Given the description of an element on the screen output the (x, y) to click on. 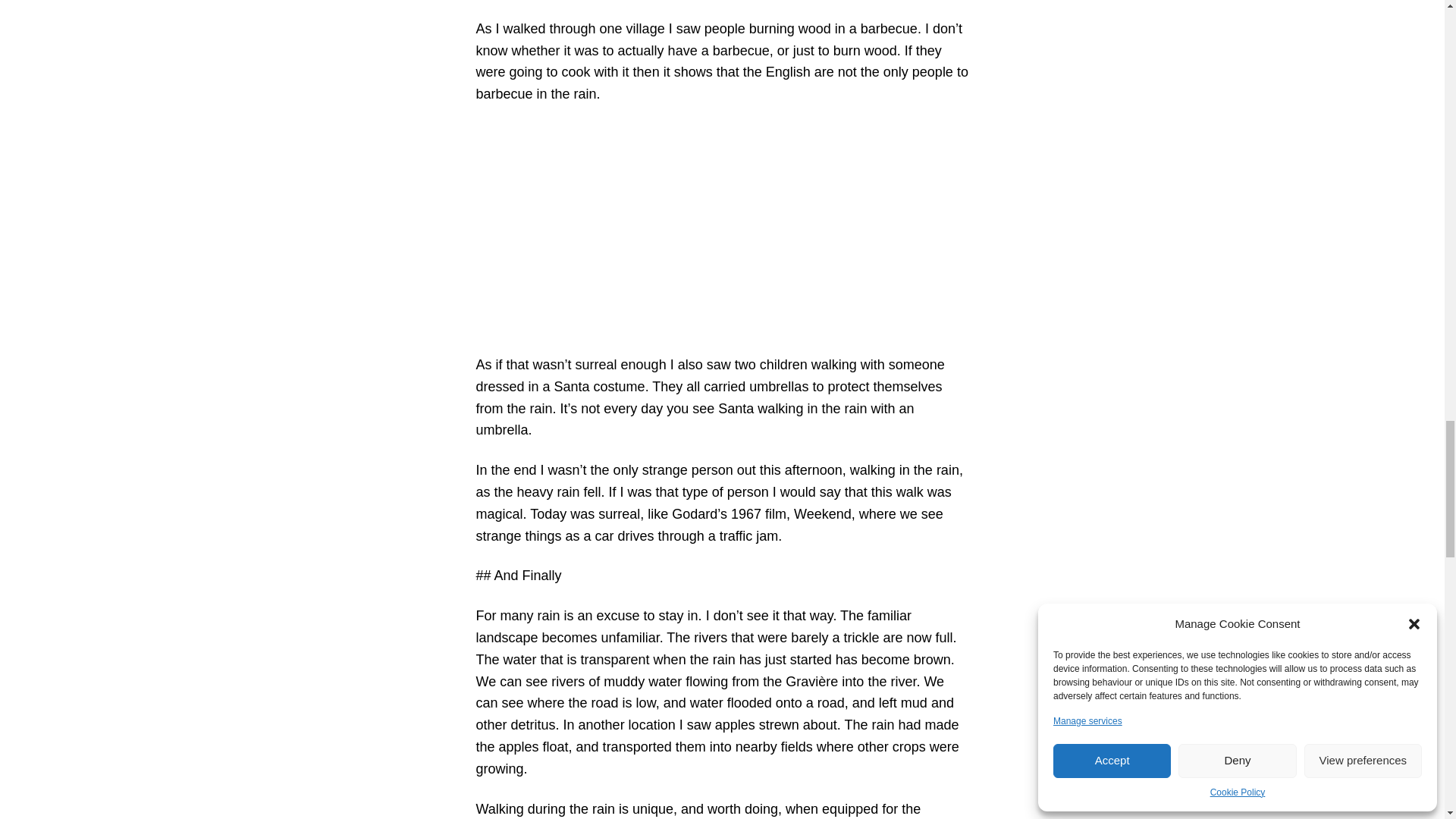
Advertisement (722, 229)
